Given the description of an element on the screen output the (x, y) to click on. 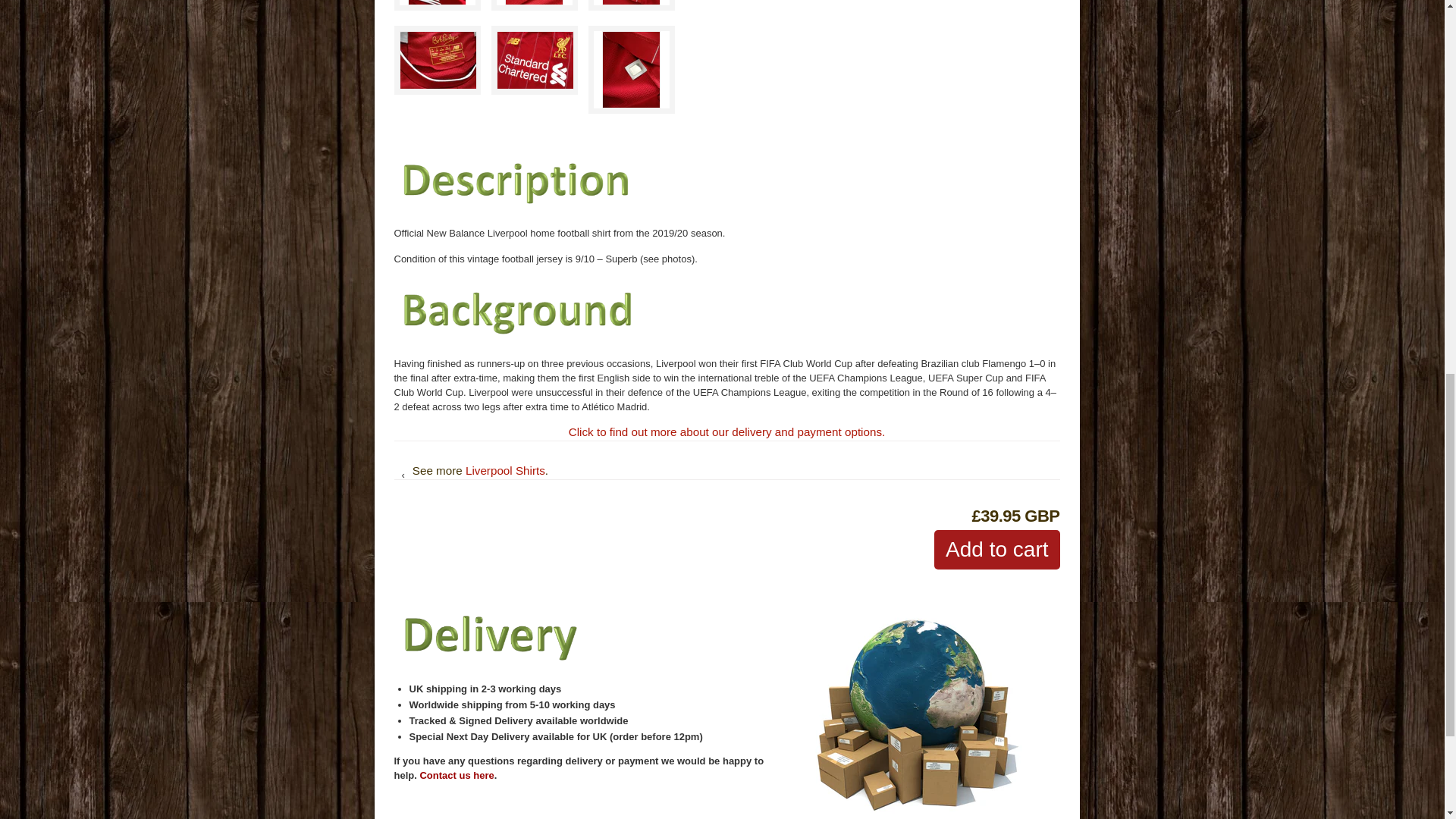
Liverpool Shirts (504, 470)
Add to cart (996, 549)
